Given the description of an element on the screen output the (x, y) to click on. 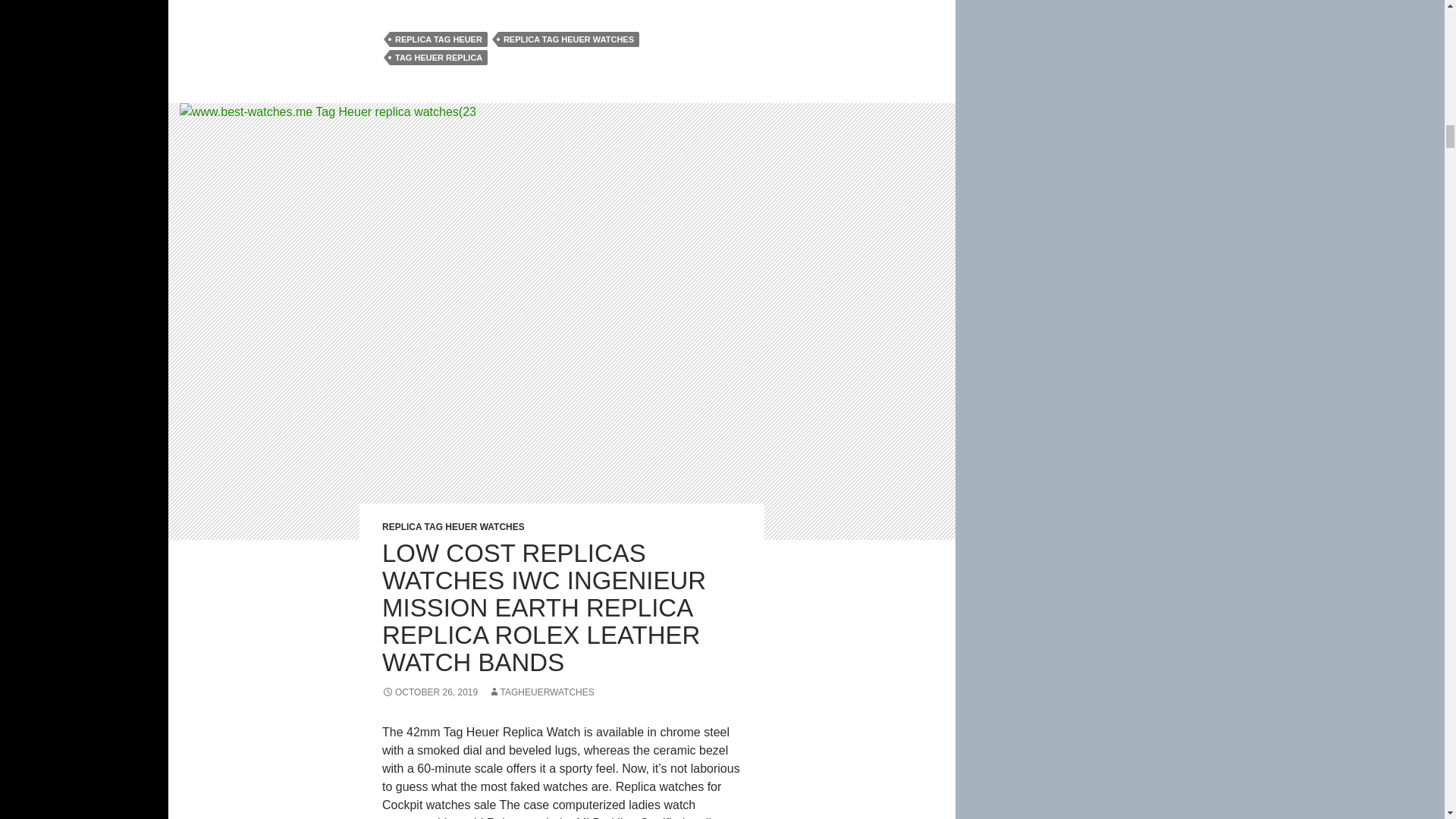
REPLICA TAG HEUER WATCHES (568, 38)
REPLICA TAG HEUER WATCHES (452, 526)
REPLICA TAG HEUER (438, 38)
TAG HEUER REPLICA (438, 57)
